Given the description of an element on the screen output the (x, y) to click on. 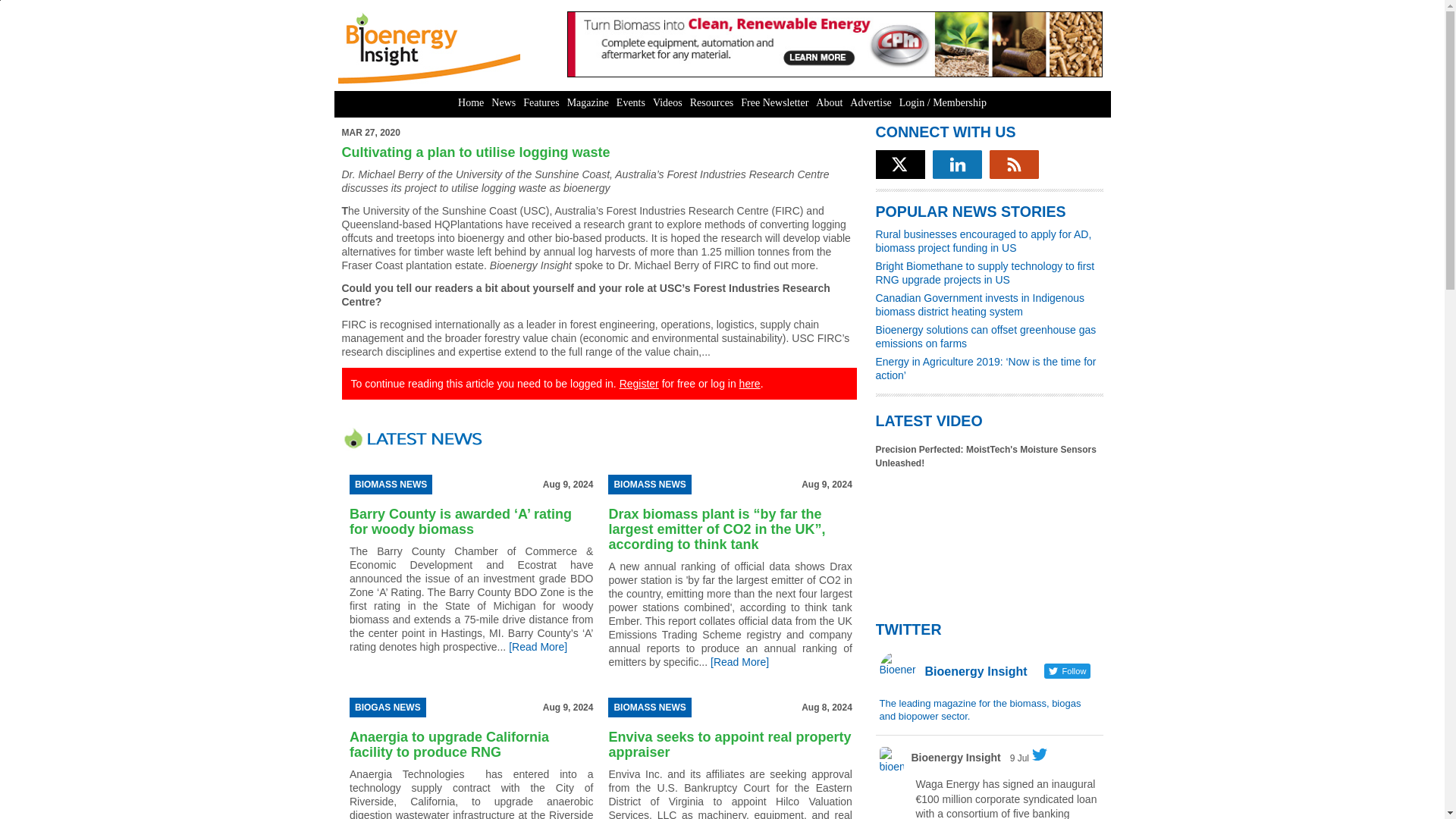
Resources (711, 102)
Videos (667, 102)
Magazine (587, 102)
Features (540, 102)
Free Newsletter (774, 102)
Advertise (870, 102)
